Given the description of an element on the screen output the (x, y) to click on. 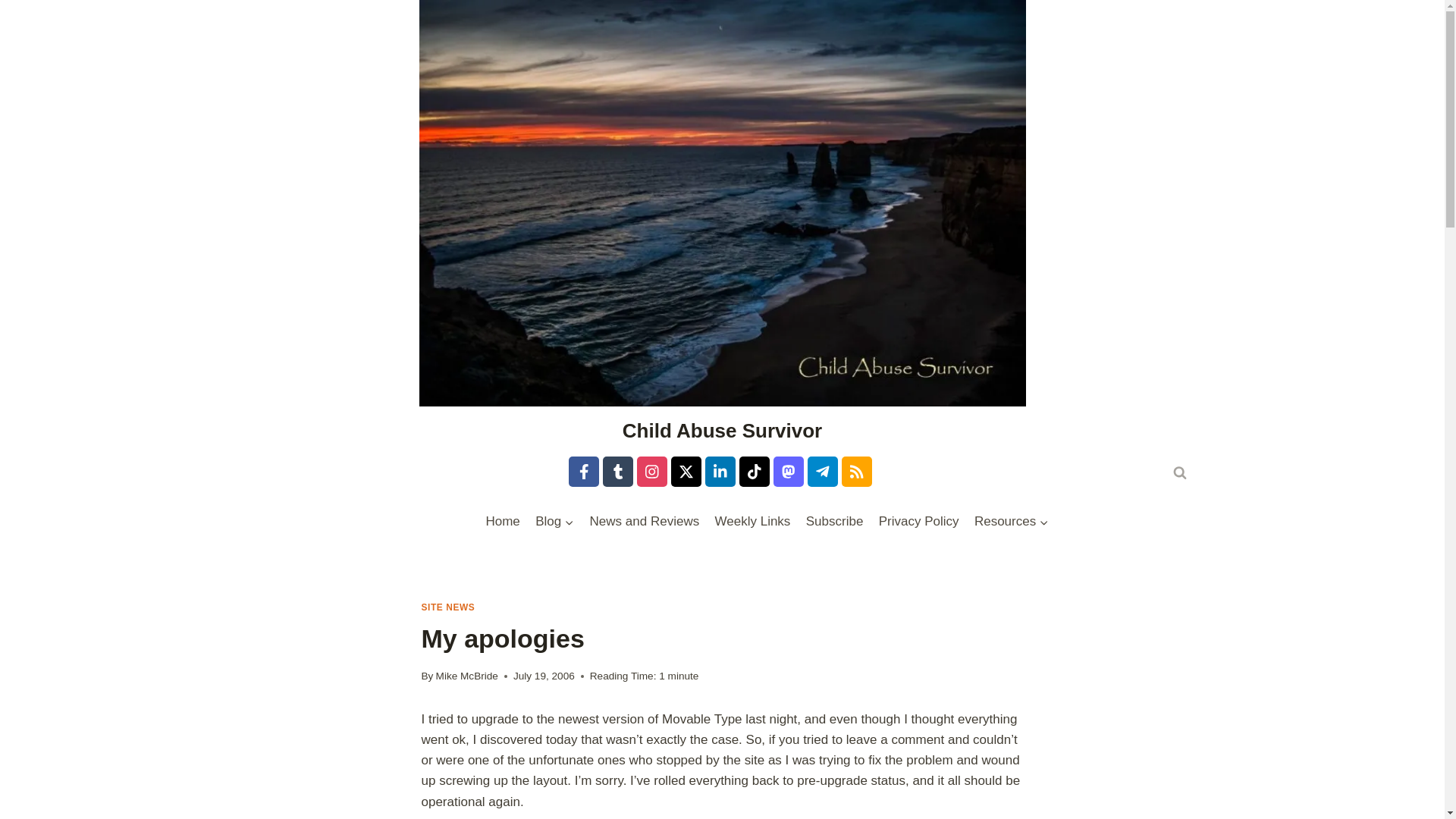
News and Reviews (643, 521)
Subscribe (833, 521)
Home (502, 521)
Privacy Policy (918, 521)
Blog (553, 521)
Resources (1011, 521)
Mike McBride (466, 675)
Weekly Links (751, 521)
SITE NEWS (449, 606)
